Given the description of an element on the screen output the (x, y) to click on. 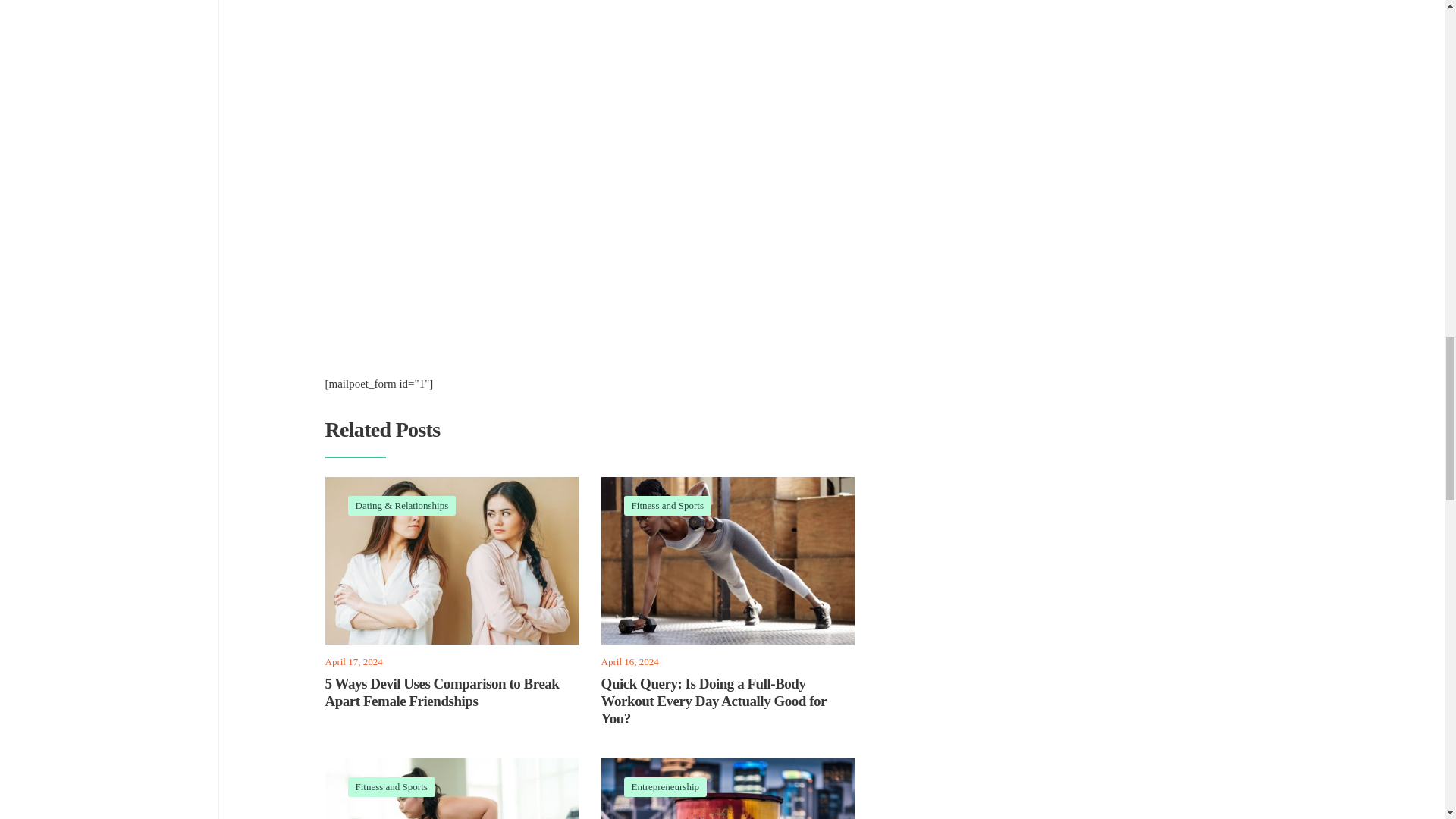
Fitness and Sports (390, 786)
Entrepreneurship (665, 786)
Fitness and Sports (667, 505)
